Given the description of an element on the screen output the (x, y) to click on. 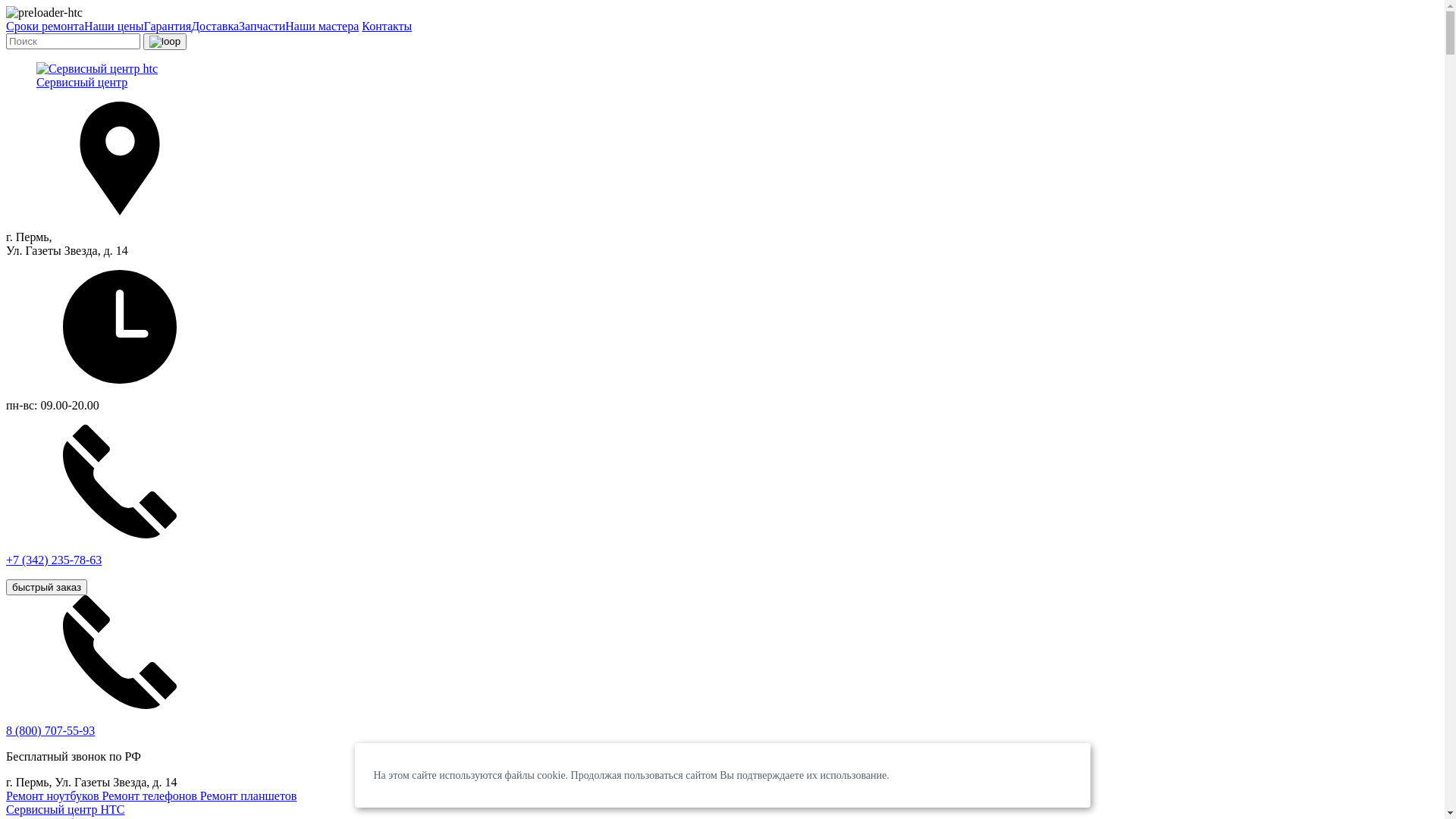
+7 (342) 235-78-63 Element type: text (722, 508)
sisea.search Element type: text (164, 41)
8 (800) 707-55-93 Element type: text (50, 730)
